Given the description of an element on the screen output the (x, y) to click on. 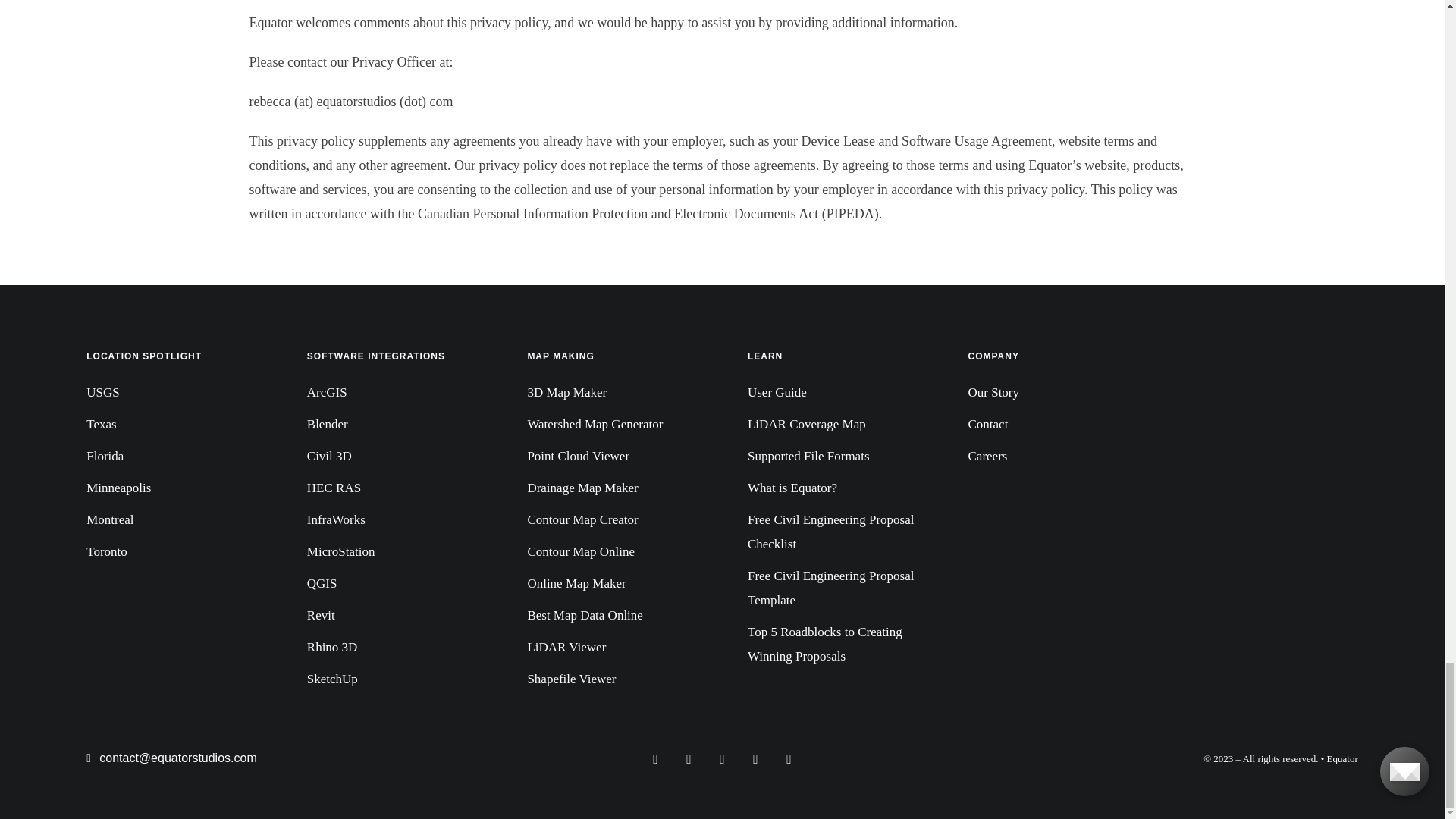
Rhino 3D (392, 647)
Texas (170, 425)
Florida (170, 457)
Civil 3D (392, 457)
MicroStation (392, 552)
Email Equator Studios (171, 758)
Watershed Map Generator (612, 425)
InfraWorks (392, 520)
Revit (392, 616)
Minneapolis (170, 488)
QGIS (392, 584)
Montreal (170, 520)
USGS (170, 393)
ArcGIS (392, 393)
Blender (392, 425)
